Given the description of an element on the screen output the (x, y) to click on. 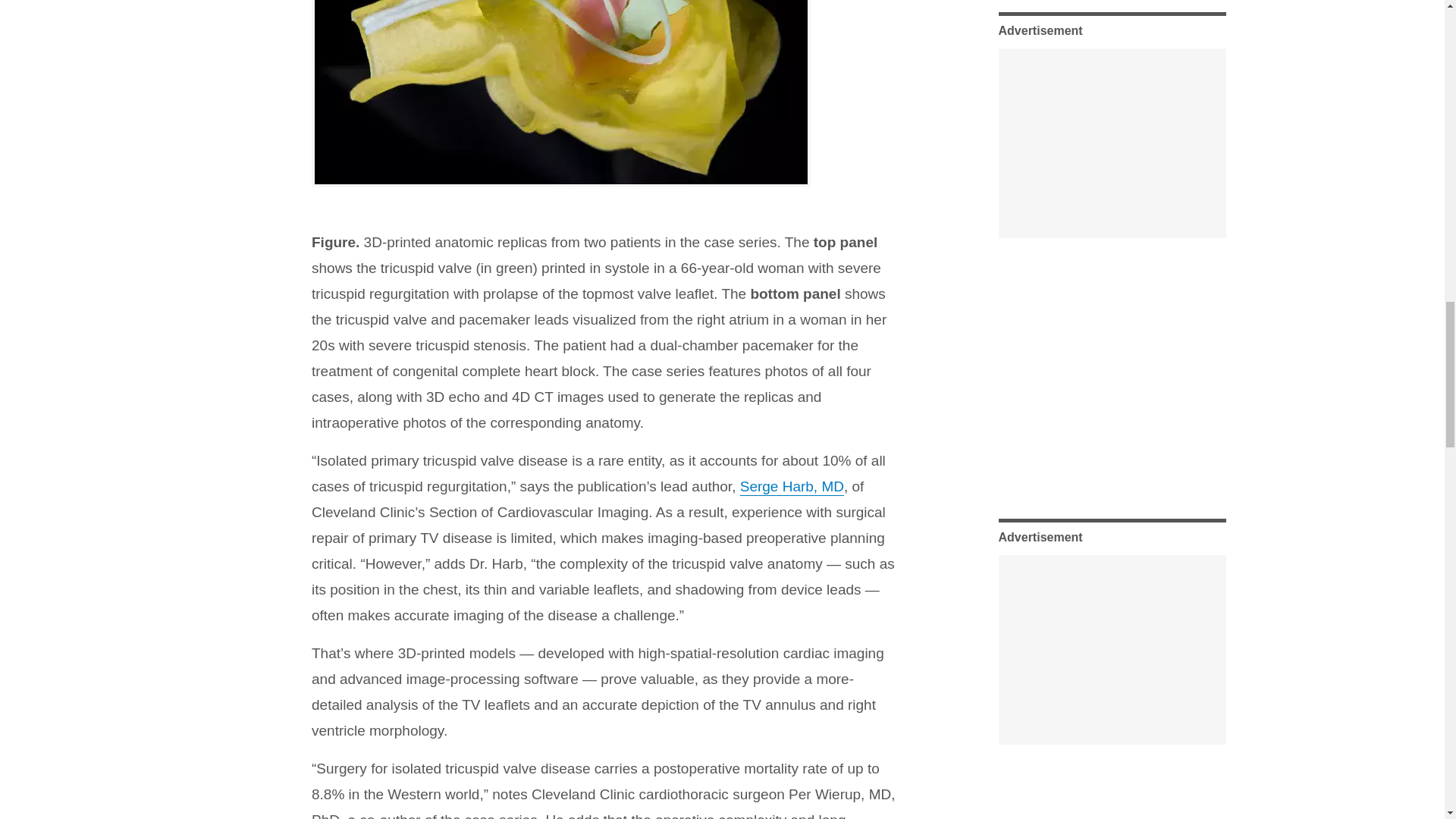
Serge Harb, MD (791, 486)
